Given the description of an element on the screen output the (x, y) to click on. 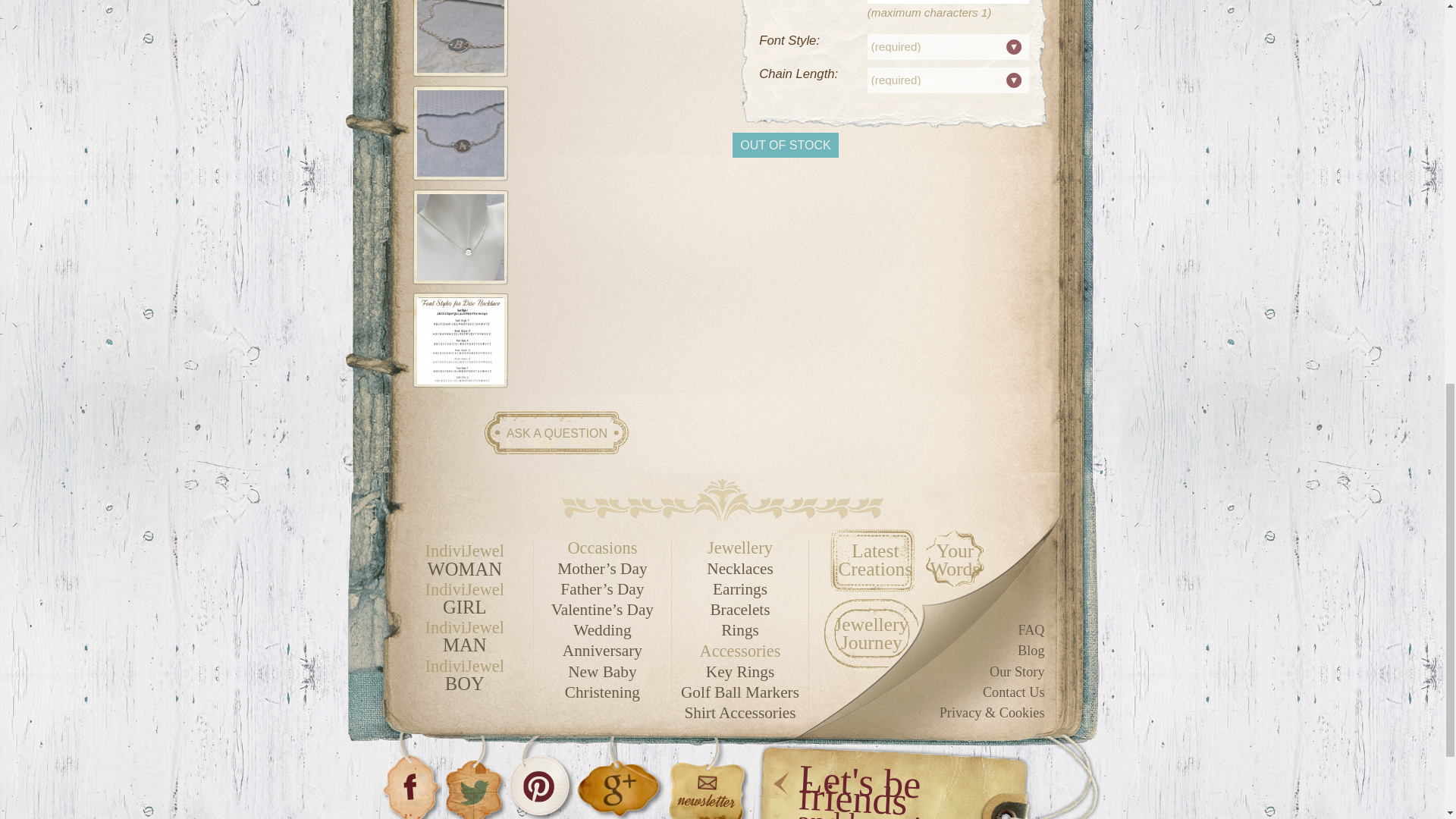
ASK A QUESTION (556, 432)
Wedding (602, 630)
Christening (602, 692)
Follow us on Google Plus (619, 775)
MAN (464, 644)
Sign up to our newsletter (705, 775)
GIRL (464, 606)
BOY (464, 683)
Anniversary (602, 651)
WOMAN (464, 569)
